Given the description of an element on the screen output the (x, y) to click on. 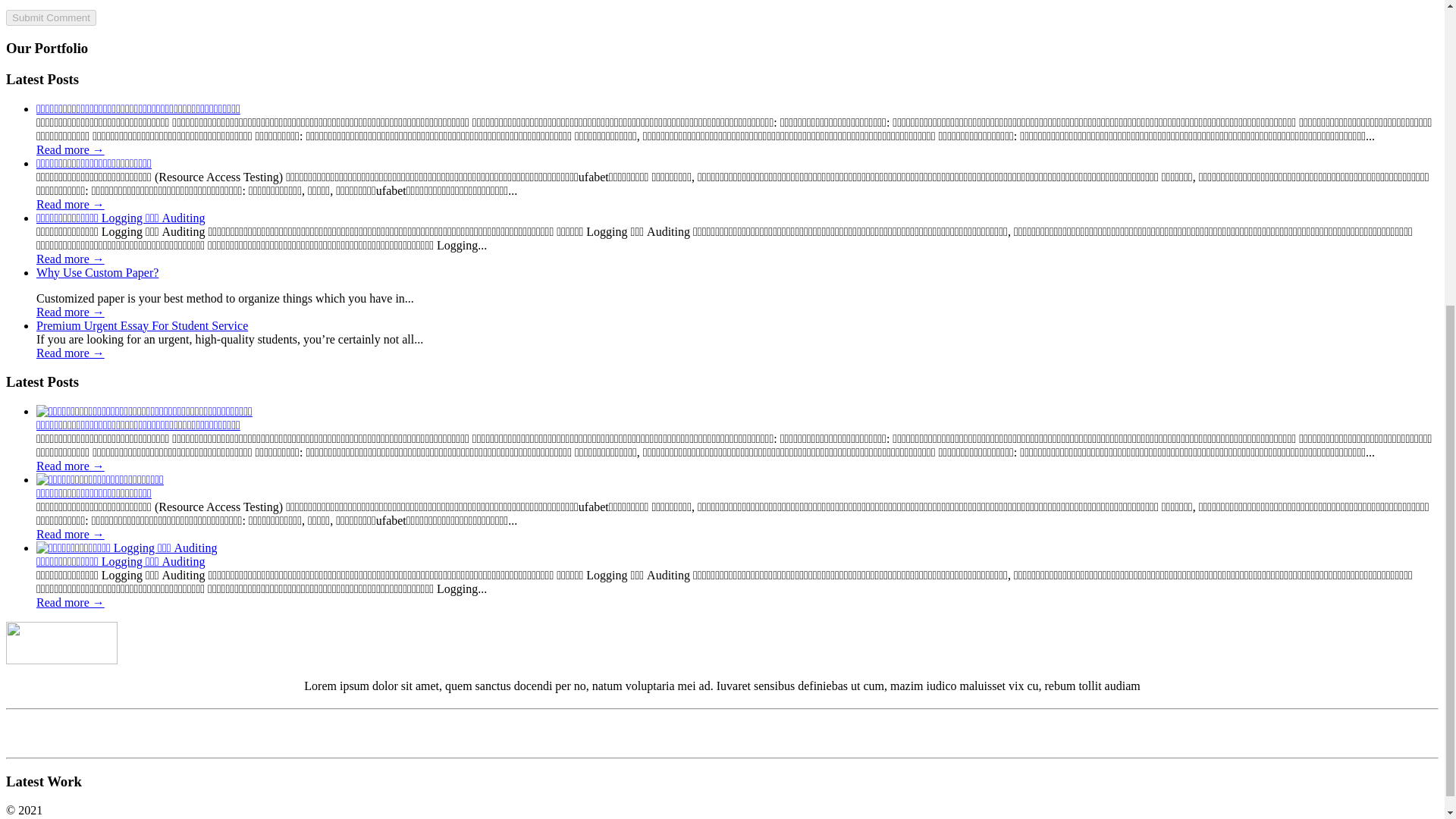
Premium Urgent Essay For Student Service (70, 352)
Submit Comment (50, 17)
Submit Comment (50, 17)
Premium Urgent Essay For Student Service (141, 325)
Why Use Custom Paper?  (70, 311)
Premium Urgent Essay For Student Service (141, 325)
